Given the description of an element on the screen output the (x, y) to click on. 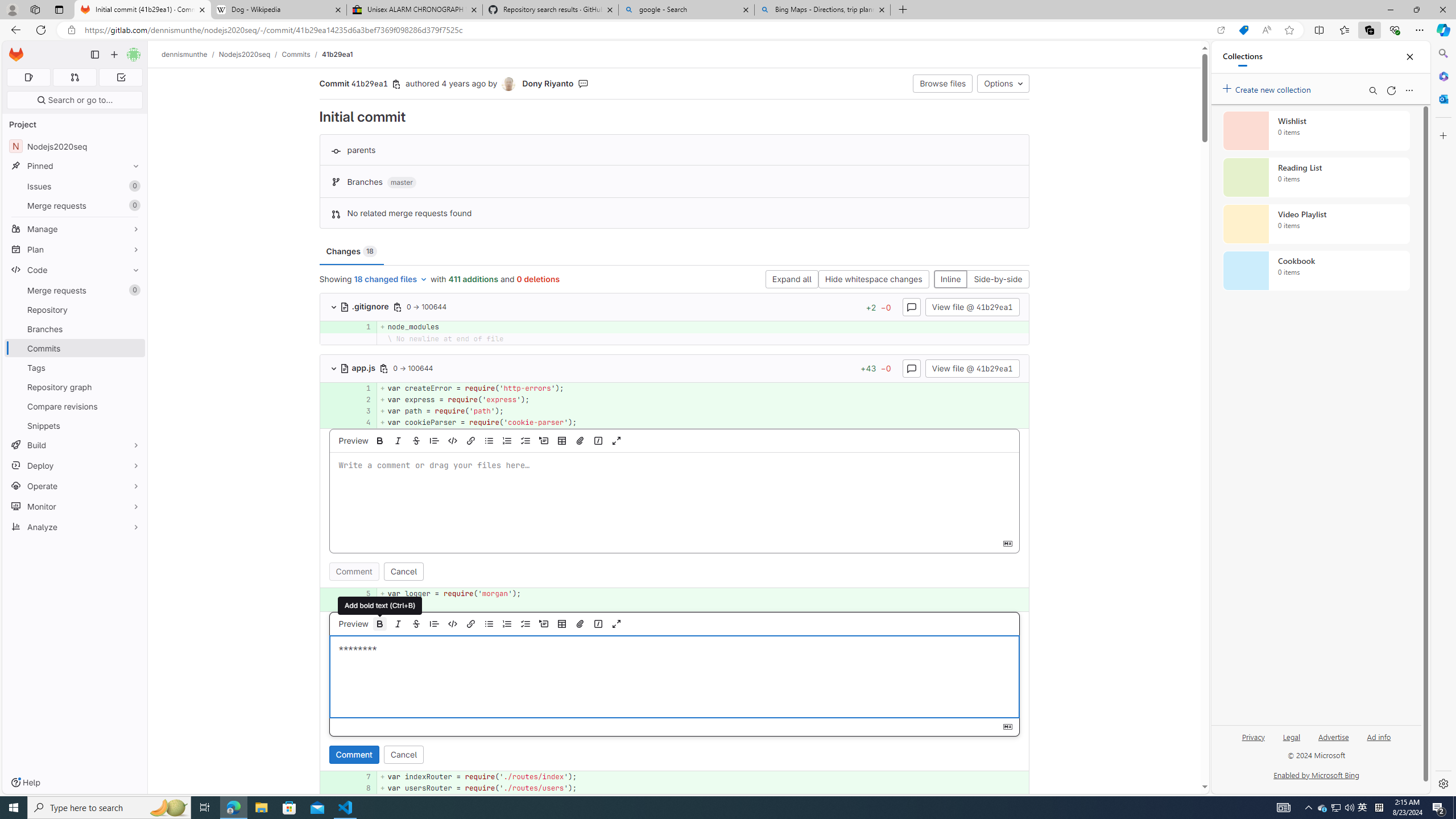
AutomationID: 4a68969ef8e858229267b842dedf42ab5dde4d50_0_3 (674, 410)
4 (360, 422)
Copy file path (384, 368)
Assigned issues 0 (28, 76)
Repository (74, 309)
Branches (74, 328)
Favorites (1344, 29)
Monitor (74, 506)
Build (74, 444)
8 (360, 788)
2 (360, 399)
Analyze (74, 526)
Add bold text (Ctrl+B) (379, 605)
4 (362, 422)
Collections (1242, 56)
